Given the description of an element on the screen output the (x, y) to click on. 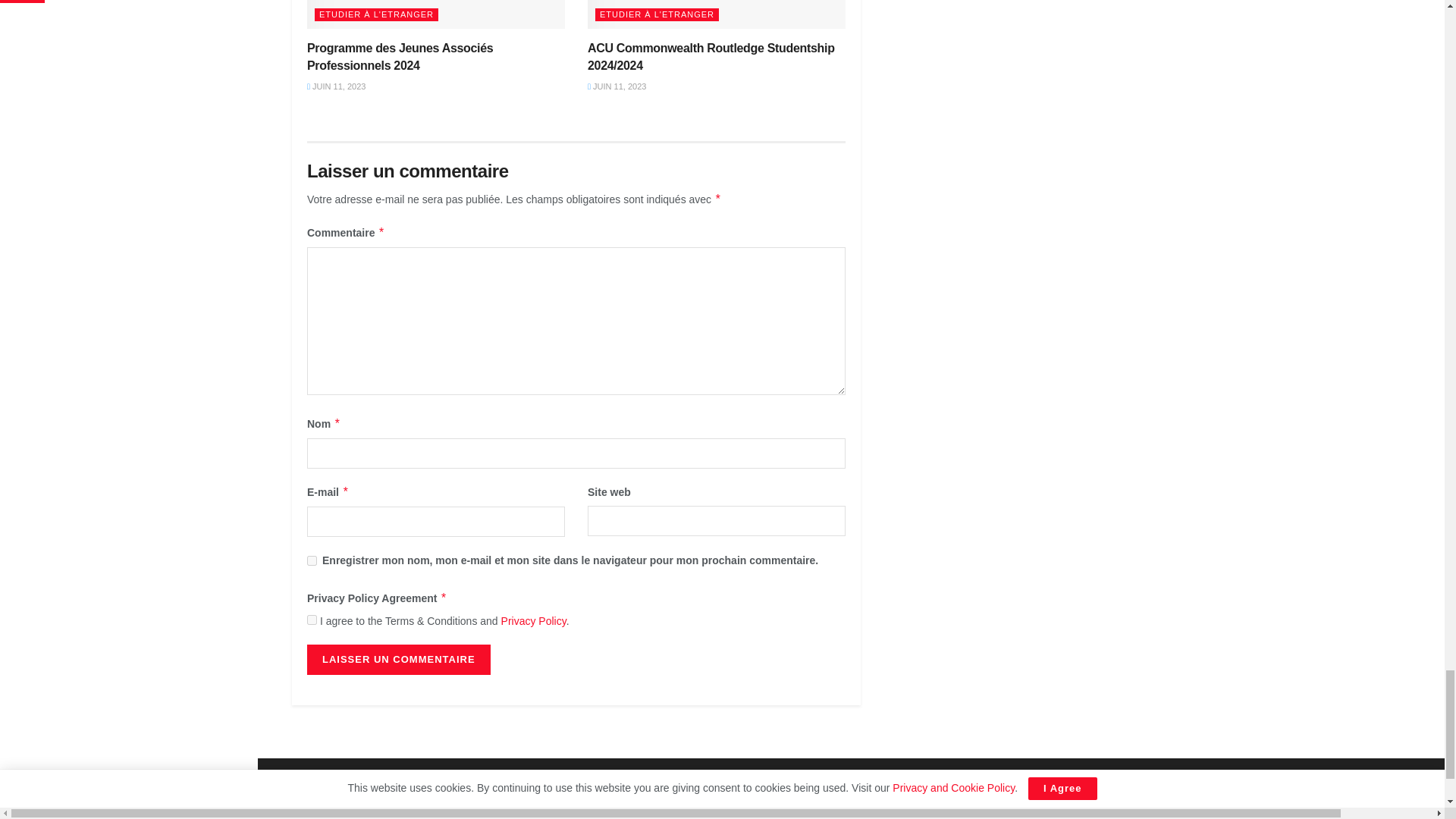
yes (312, 560)
Laisser un commentaire (398, 659)
on (312, 619)
